Given the description of an element on the screen output the (x, y) to click on. 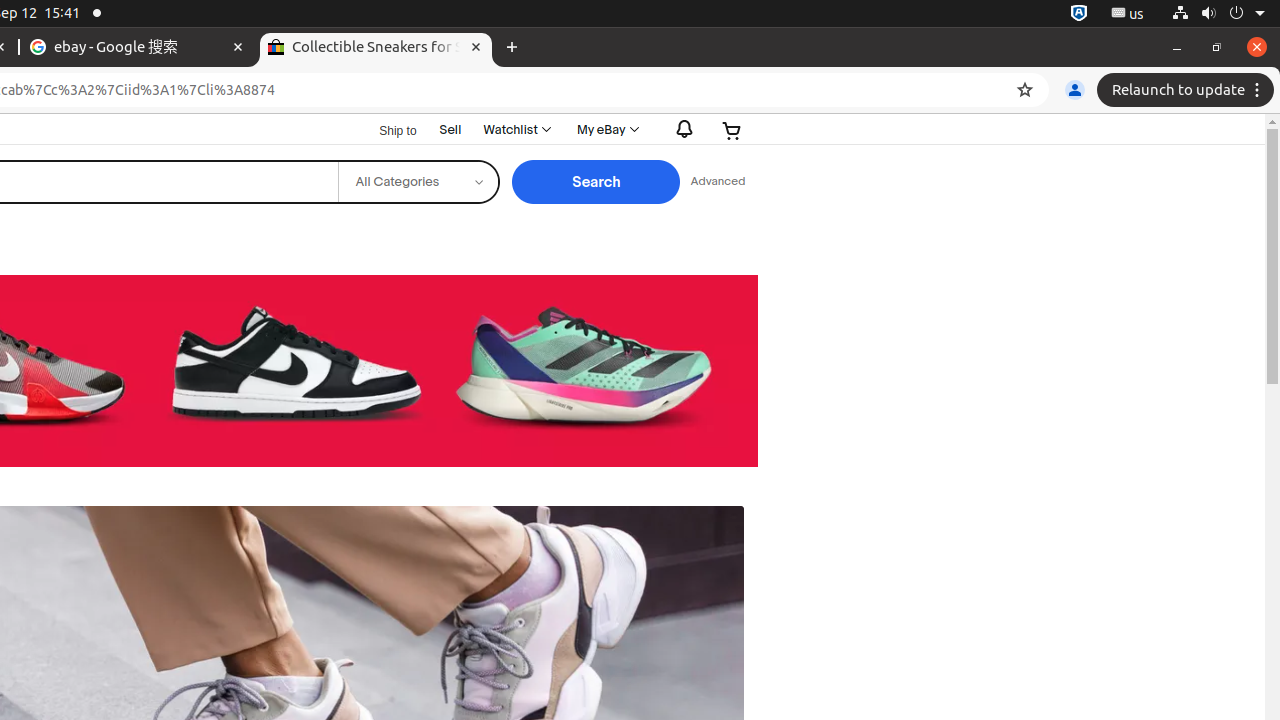
System Element type: menu (1218, 13)
:1.72/StatusNotifierItem Element type: menu (1079, 13)
Advanced Search Element type: link (718, 182)
Collectible Sneakers for Sale - Authenticity Guaranteed - eBay Element type: page-tab (376, 47)
Search Element type: push-button (596, 182)
